Given the description of an element on the screen output the (x, y) to click on. 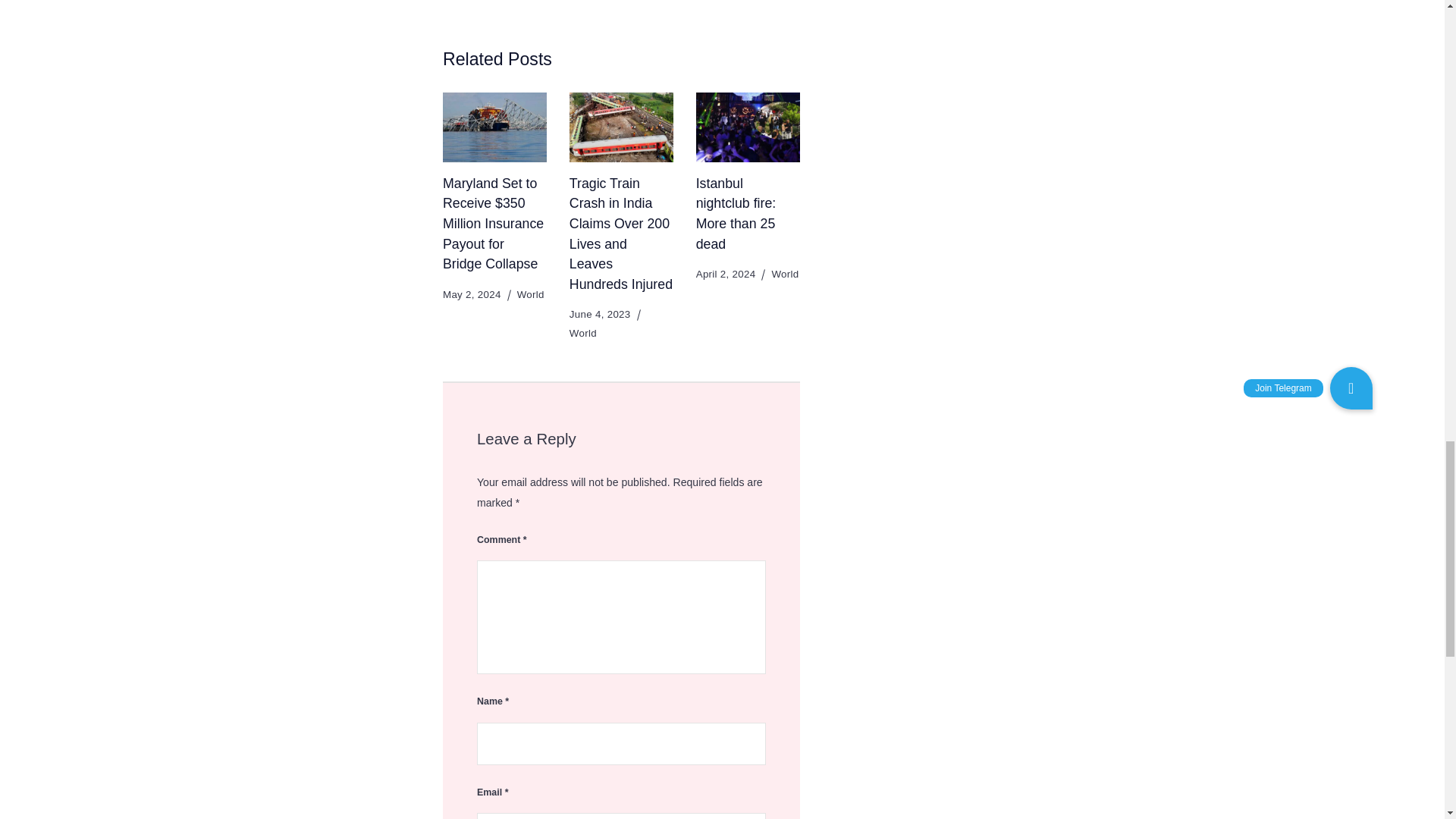
World (530, 294)
